Given the description of an element on the screen output the (x, y) to click on. 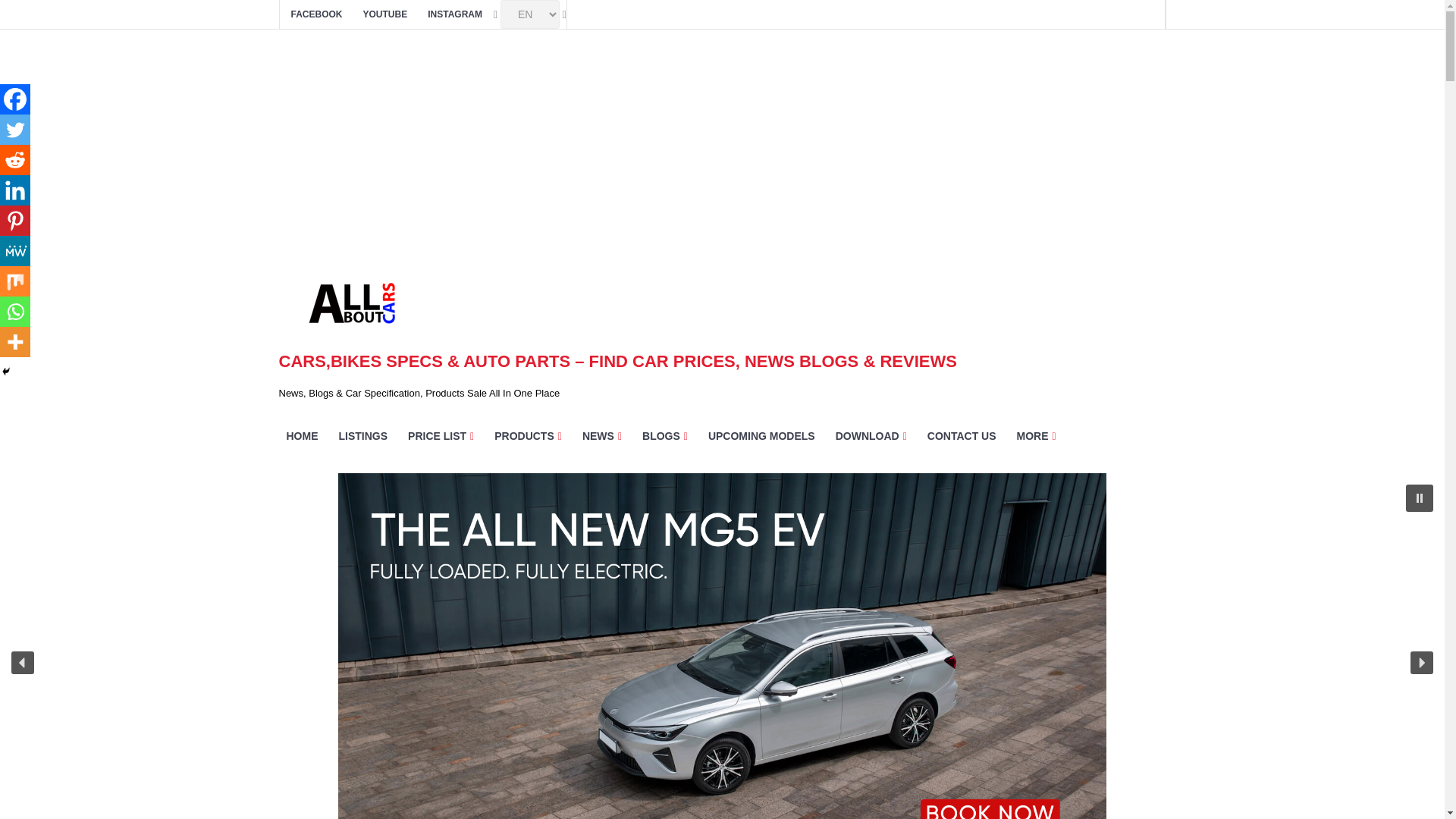
CONTACT US (962, 435)
Facebook (15, 99)
LISTINGS (362, 435)
Reddit (15, 159)
INSTAGRAM (454, 14)
NEWS (601, 435)
FACEBOOK (316, 14)
PRODUCTS (527, 435)
BLOGS (664, 435)
